Given the description of an element on the screen output the (x, y) to click on. 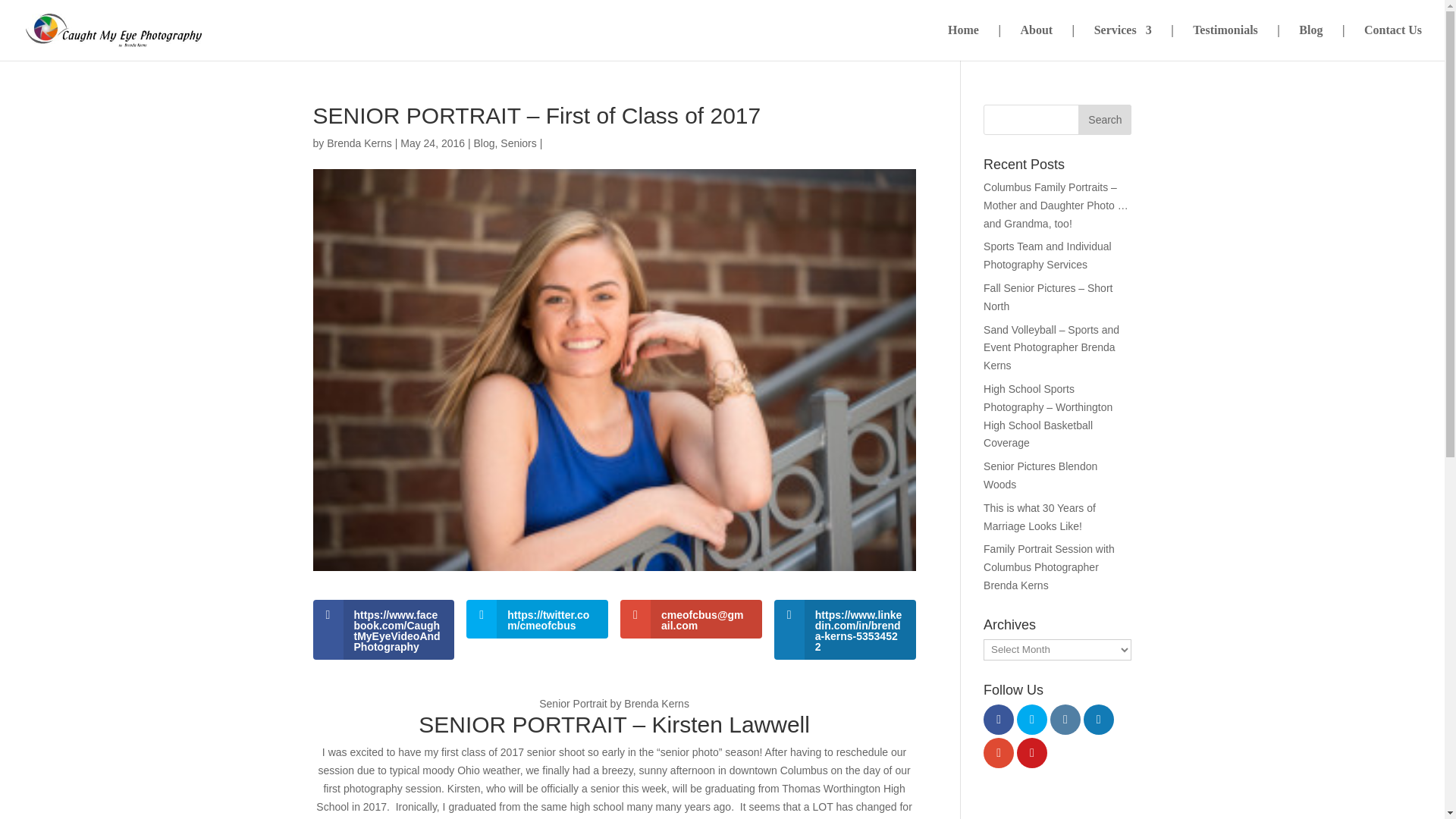
Services (1122, 42)
Search (1104, 119)
This is what 30 Years of Marriage Looks Like! (1040, 517)
Brenda Kerns (358, 143)
Blog (484, 143)
Contact Us (1393, 42)
Seniors (517, 143)
Posts by Brenda Kerns (358, 143)
Search (1104, 119)
Sports Team and Individual Photography Services (1048, 255)
Contact Us (1393, 42)
Testimonials (1224, 42)
About (1036, 42)
Senior Pictures Blendon Woods (1040, 475)
